Given the description of an element on the screen output the (x, y) to click on. 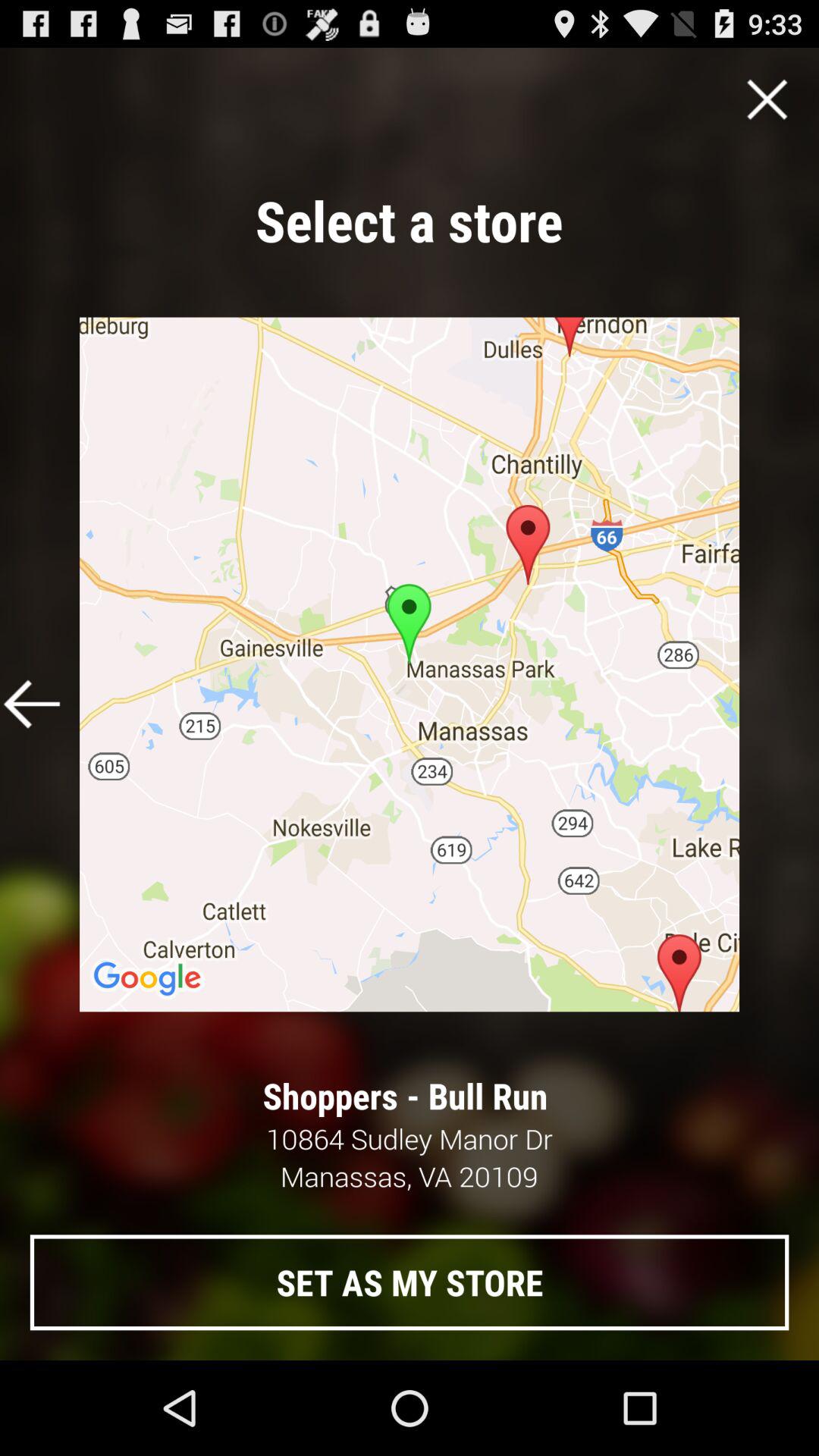
close (767, 99)
